Given the description of an element on the screen output the (x, y) to click on. 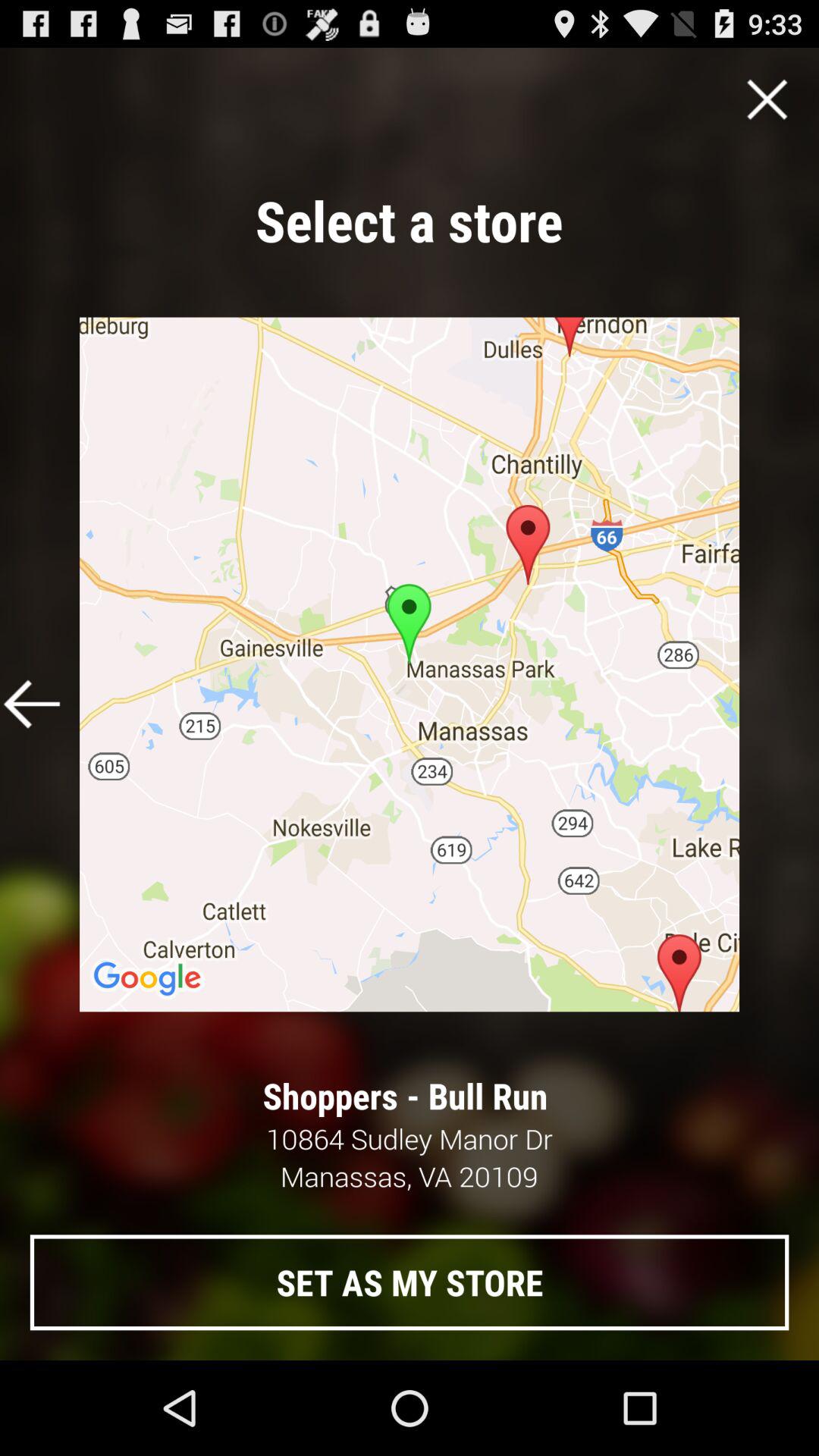
close (767, 99)
